Given the description of an element on the screen output the (x, y) to click on. 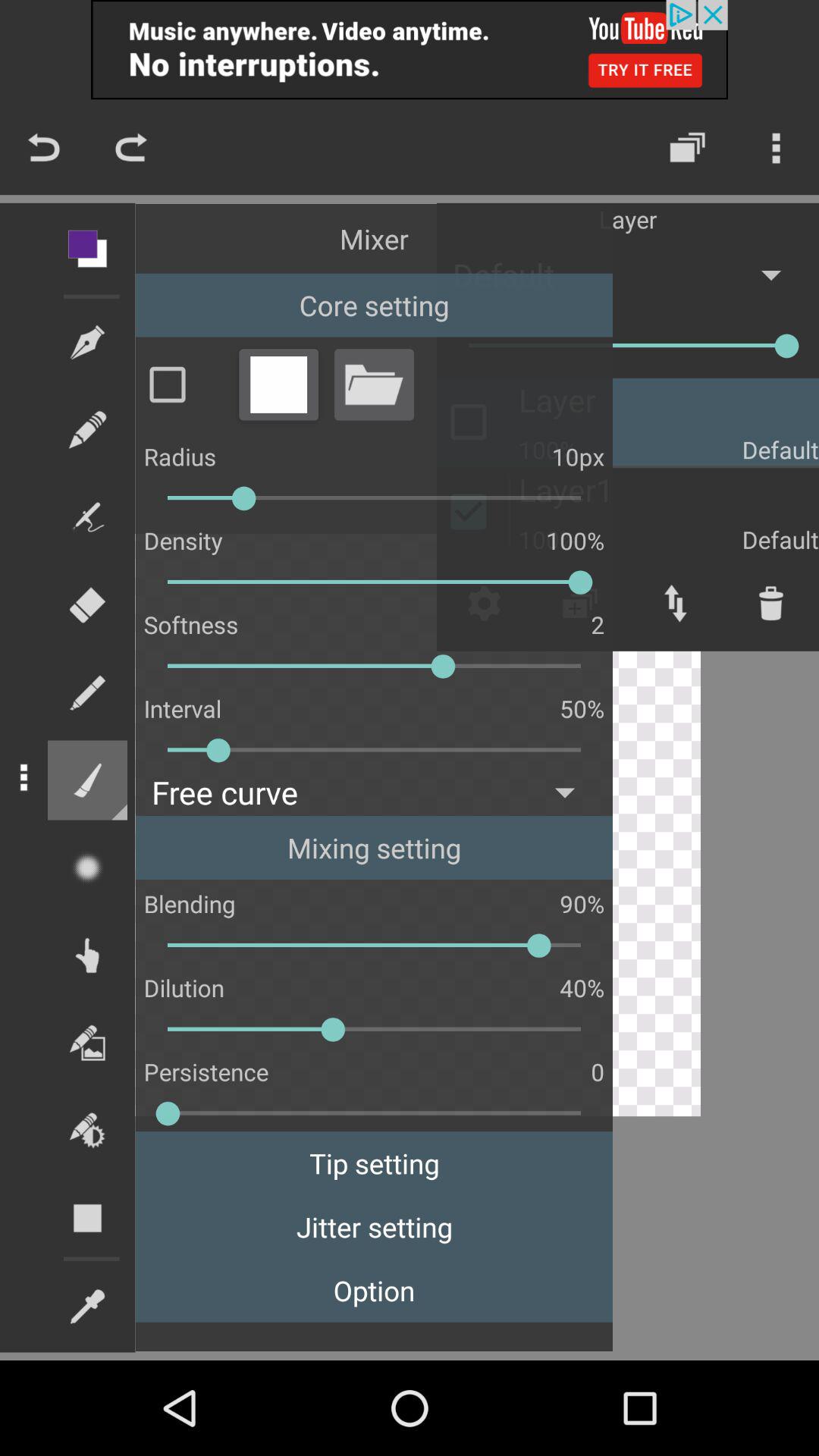
full screen (278, 383)
